Given the description of an element on the screen output the (x, y) to click on. 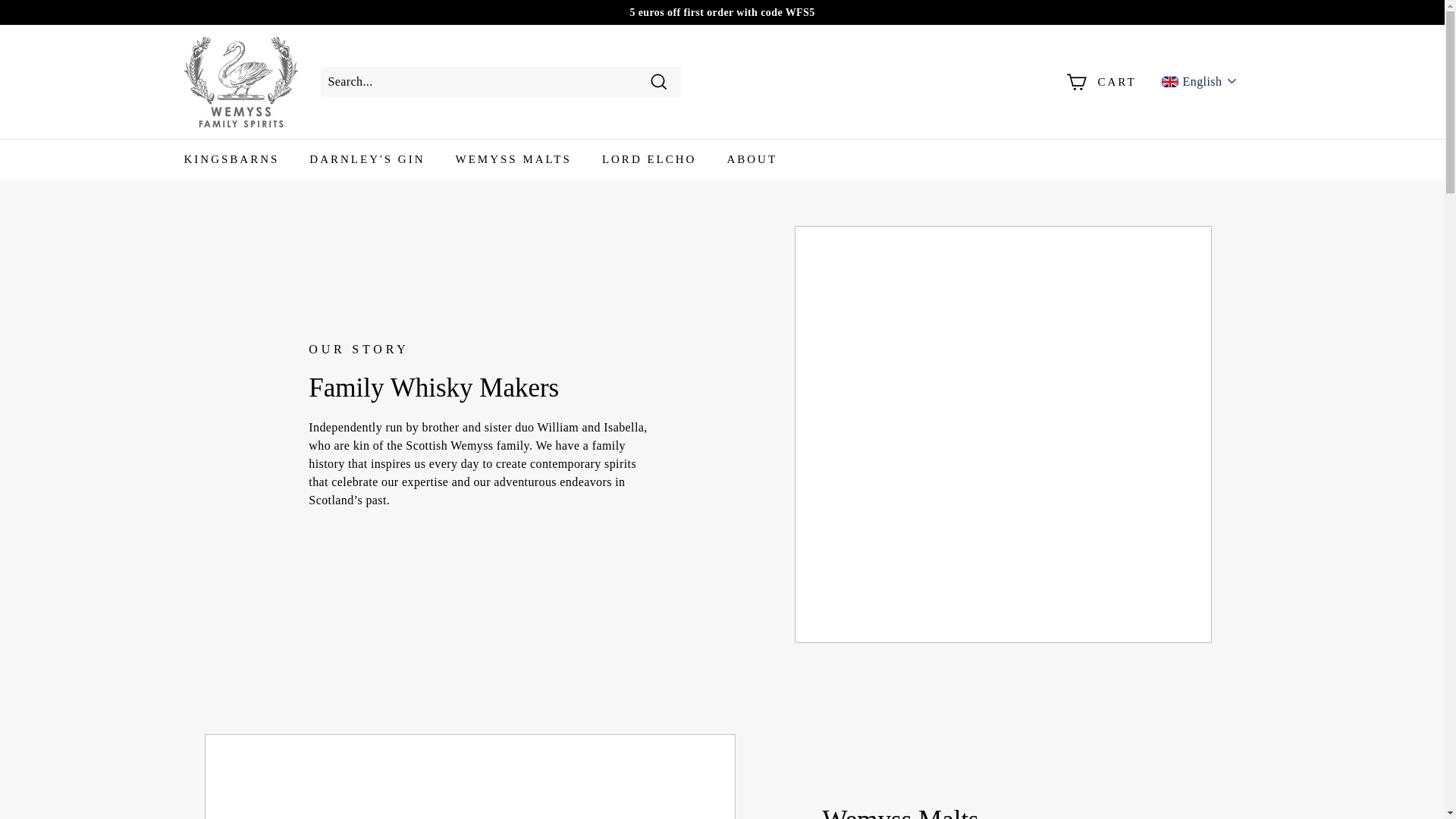
LORD ELCHO (648, 159)
ABOUT (751, 159)
KINGSBARNS (231, 159)
WEMYSS MALTS (512, 159)
DARNLEY'S GIN (366, 159)
